Given the description of an element on the screen output the (x, y) to click on. 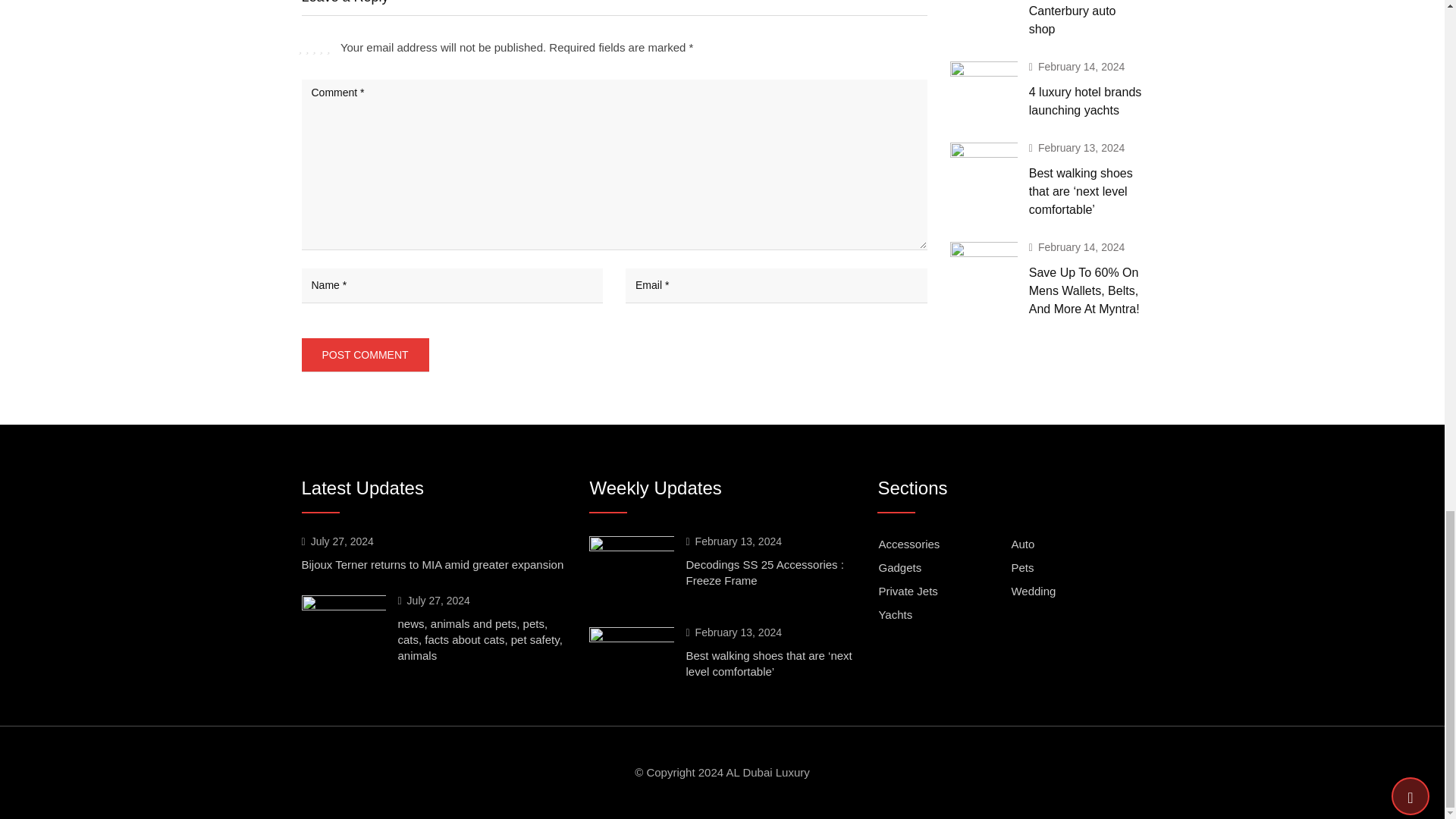
Post Comment (365, 354)
